Given the description of an element on the screen output the (x, y) to click on. 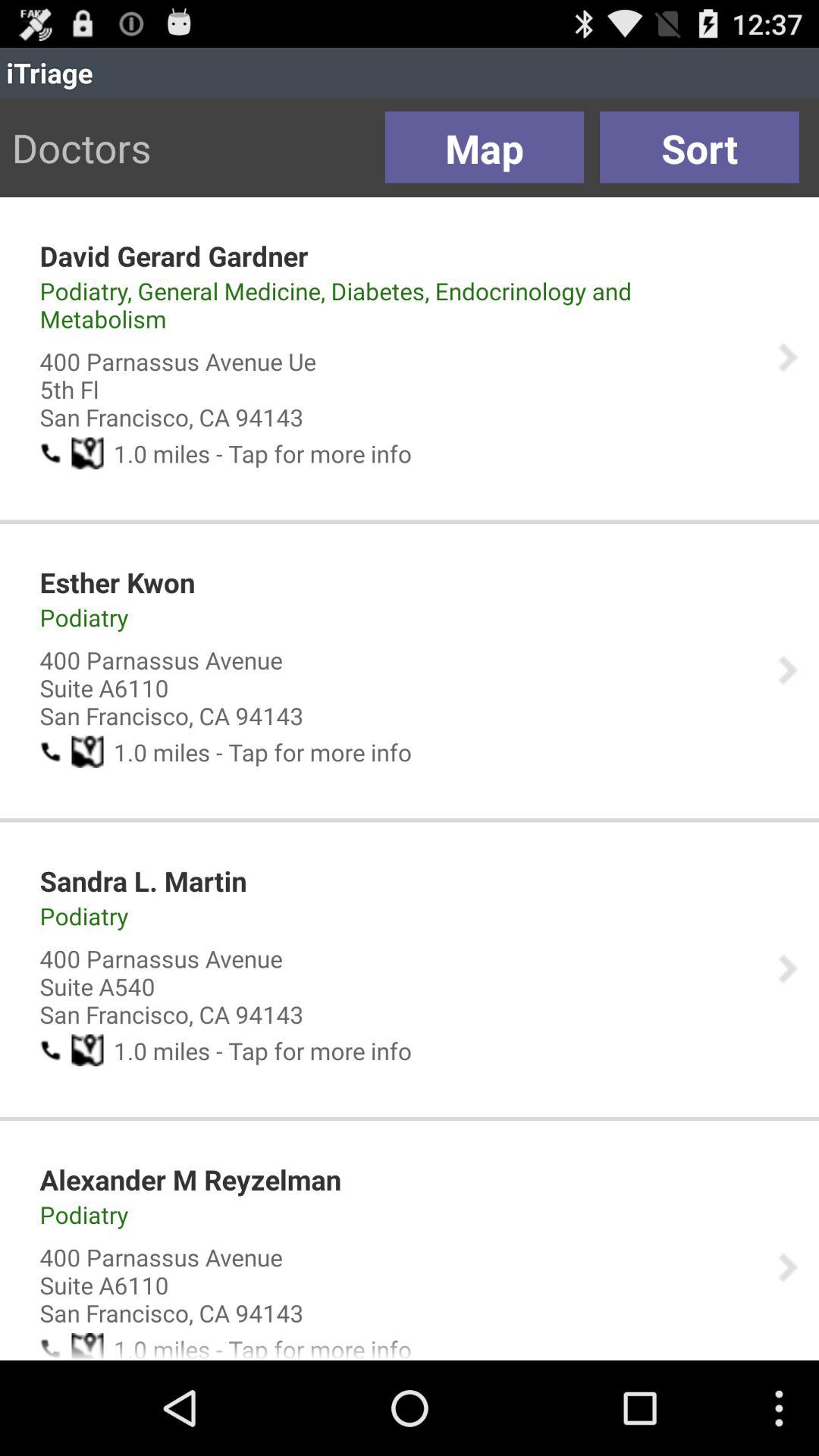
choose the item below the david gerard gardner app (398, 304)
